Given the description of an element on the screen output the (x, y) to click on. 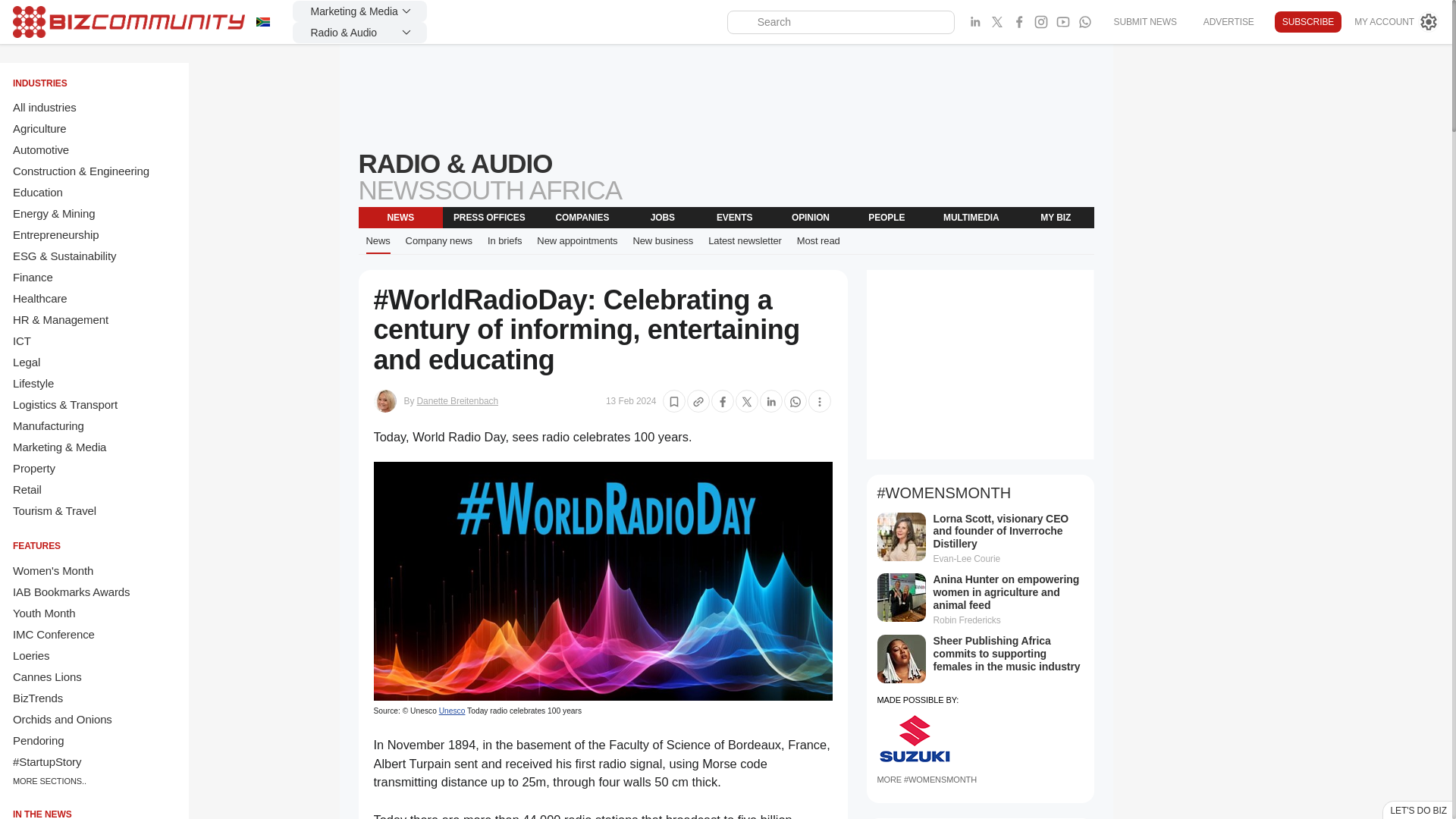
Bizcommunity instagram (1040, 22)
MY ACCOUNT (1396, 21)
SUBSCRIBE (1307, 21)
Bizcommunity youtube (1062, 22)
ADVERTISE (1228, 21)
SUBMIT NEWS (1144, 21)
3rd party ad content (979, 364)
Bizcommunity facebook (1018, 22)
Bizcommunity facebook (1084, 22)
Bizcommunity linked (975, 22)
